Given the description of an element on the screen output the (x, y) to click on. 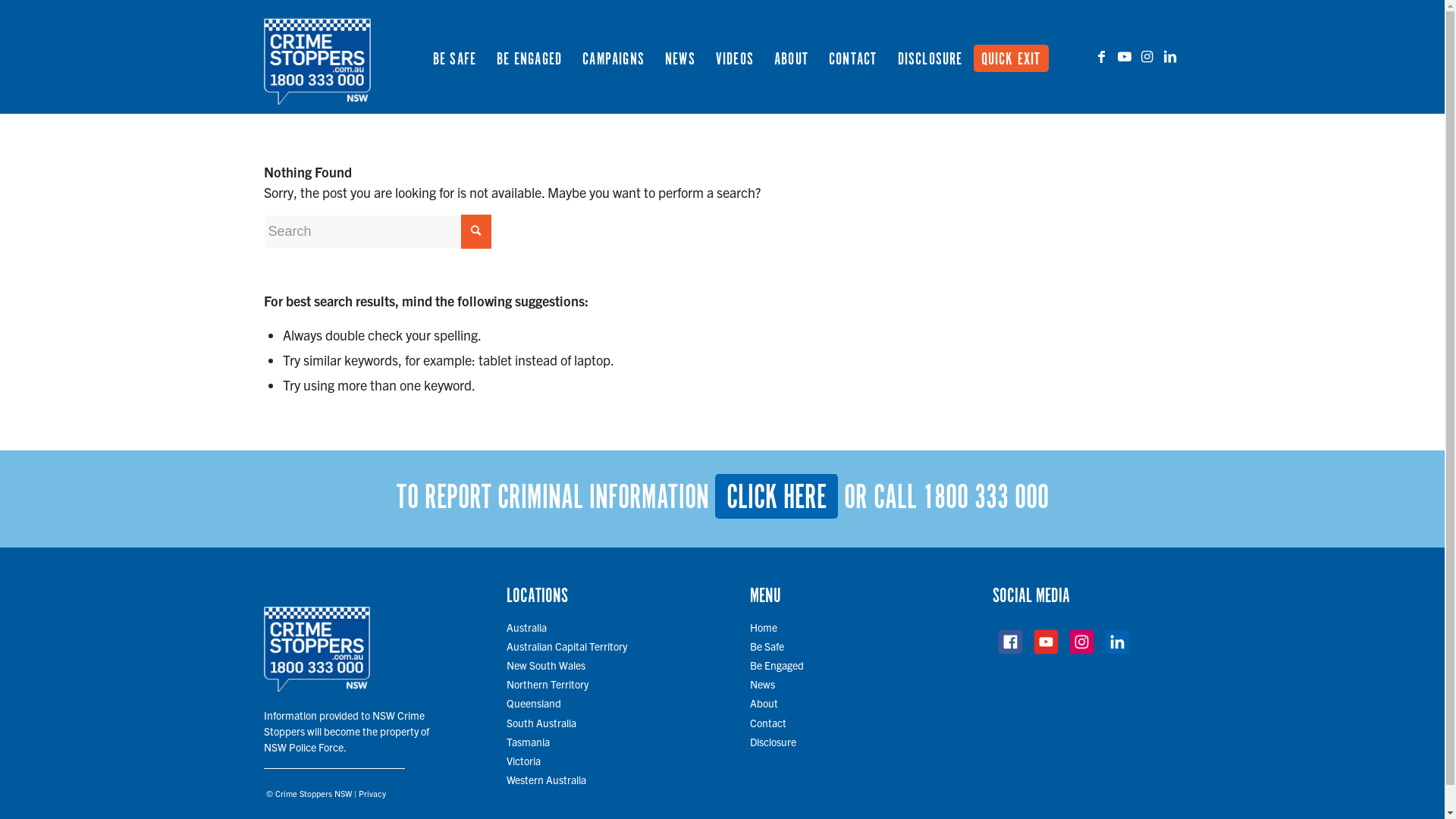
Be Engaged Element type: text (776, 664)
CONTACT Element type: text (852, 56)
CLICK HERE Element type: text (775, 495)
Australia Element type: text (526, 626)
South Australia Element type: text (541, 722)
ABOUT Element type: text (790, 56)
LinkedIn Element type: hover (1169, 55)
New South Wales Element type: text (545, 664)
News Element type: text (762, 683)
About Element type: text (763, 702)
cs-logo-700 copy Element type: hover (317, 56)
Home Element type: text (763, 626)
VIDEOS Element type: text (734, 56)
CAMPAIGNS Element type: text (612, 56)
Disclosure Element type: text (772, 741)
Victoria Element type: text (523, 760)
1800 333 000 Element type: text (985, 497)
Tasmania Element type: text (527, 741)
Contact Element type: text (767, 722)
Be Safe Element type: text (766, 645)
Facebook Element type: hover (1101, 55)
Instagram Element type: hover (1146, 55)
Privacy Element type: text (371, 792)
BE SAFE Element type: text (454, 56)
QUICK EXIT Element type: text (1014, 56)
Australian Capital Territory Element type: text (566, 645)
Queensland Element type: text (533, 702)
DISCLOSURE Element type: text (929, 56)
NEWS Element type: text (679, 56)
Youtube Element type: hover (1124, 55)
BE ENGAGED Element type: text (528, 56)
Northern Territory Element type: text (547, 683)
Western Australia Element type: text (546, 779)
